Given the description of an element on the screen output the (x, y) to click on. 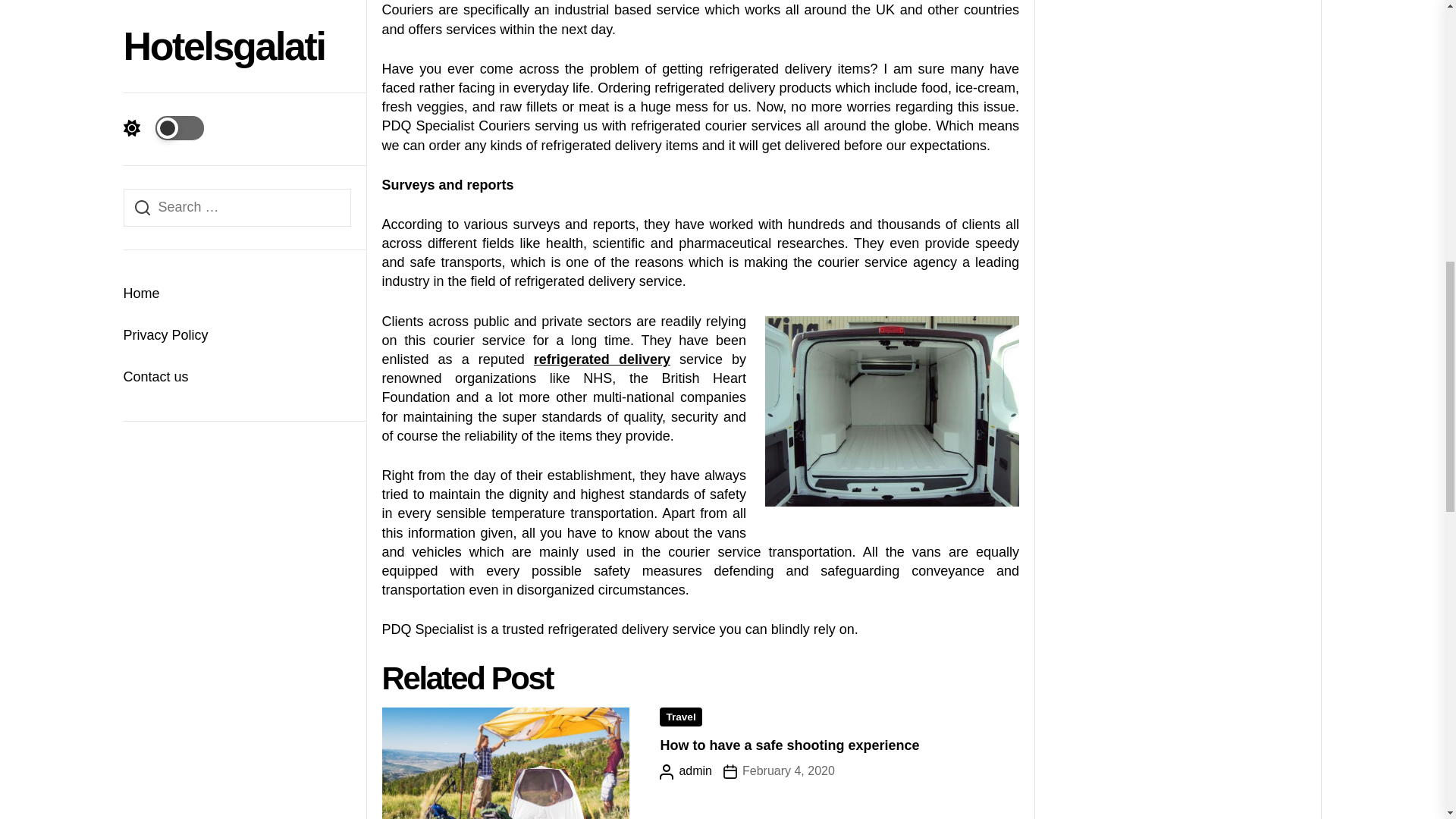
admin (685, 770)
Travel (680, 716)
February 4, 2020 (778, 770)
refrigerated delivery (601, 359)
How to have a safe shooting experience (788, 744)
